Given the description of an element on the screen output the (x, y) to click on. 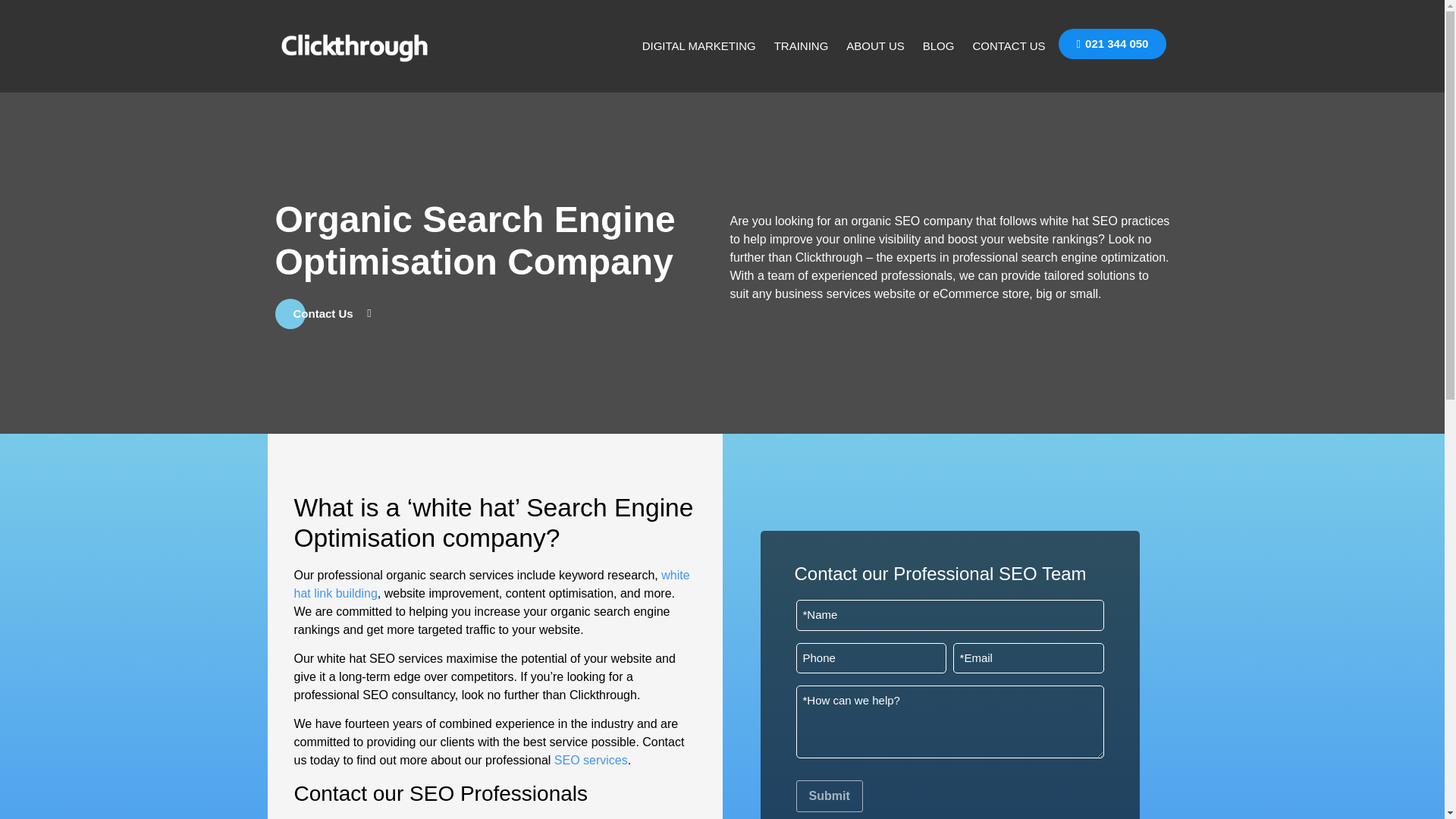
TRAINING (801, 45)
DIGITAL MARKETING (699, 45)
Submit (829, 796)
